Given the description of an element on the screen output the (x, y) to click on. 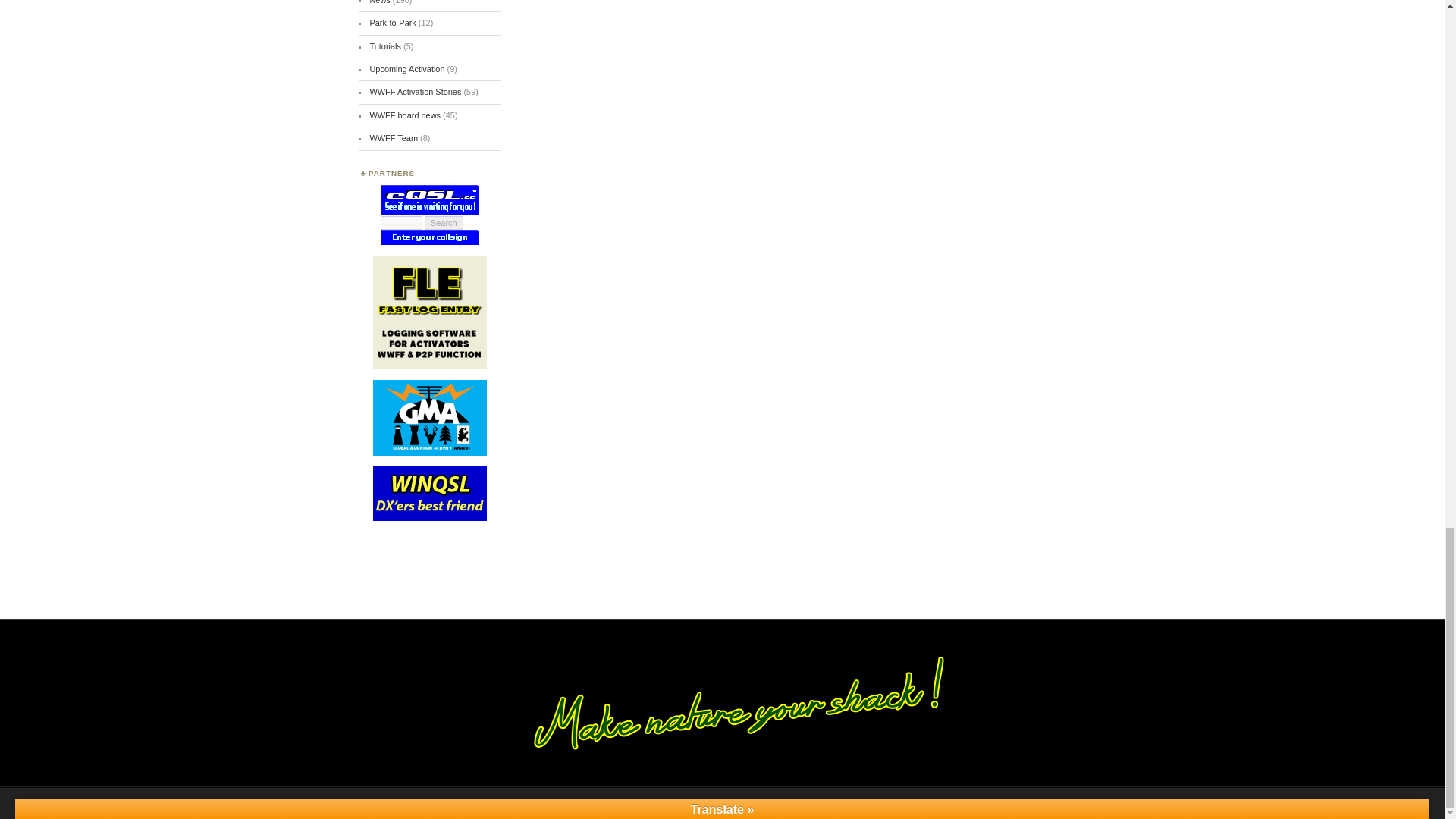
Search (444, 223)
